Given the description of an element on the screen output the (x, y) to click on. 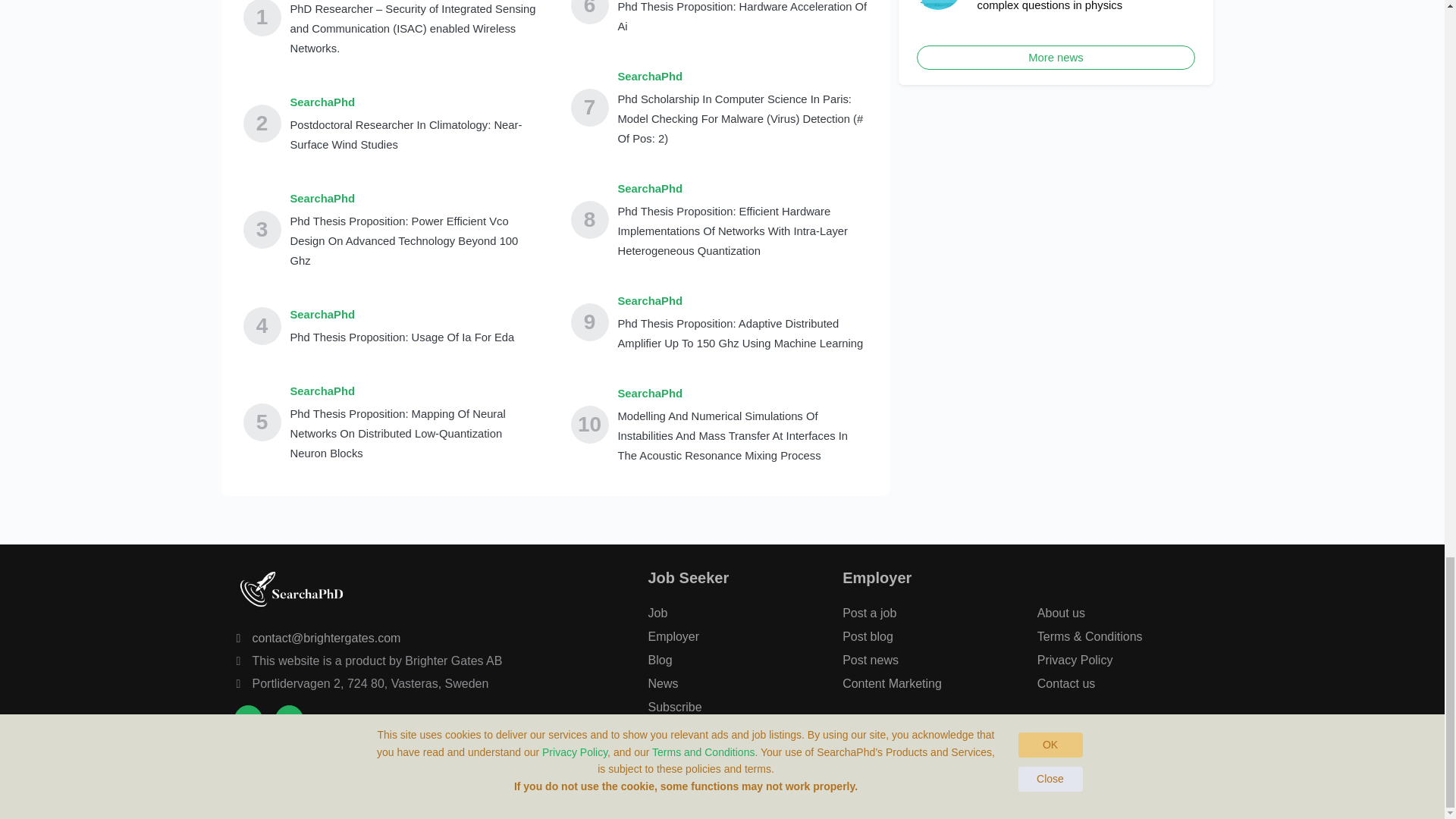
SearchaPhd (401, 314)
SearchaPhd (414, 102)
SearchaPhd (742, 393)
Phd Thesis Proposition: Hardware Acceleration Of Ai (742, 18)
SearchaPhd (742, 76)
Phd Thesis Proposition: Usage Of Ia For Eda (401, 337)
SearchaPhd (742, 301)
SearchaPhd (742, 189)
SearchaPhd (414, 198)
SearchaPhd (414, 391)
